Given the description of an element on the screen output the (x, y) to click on. 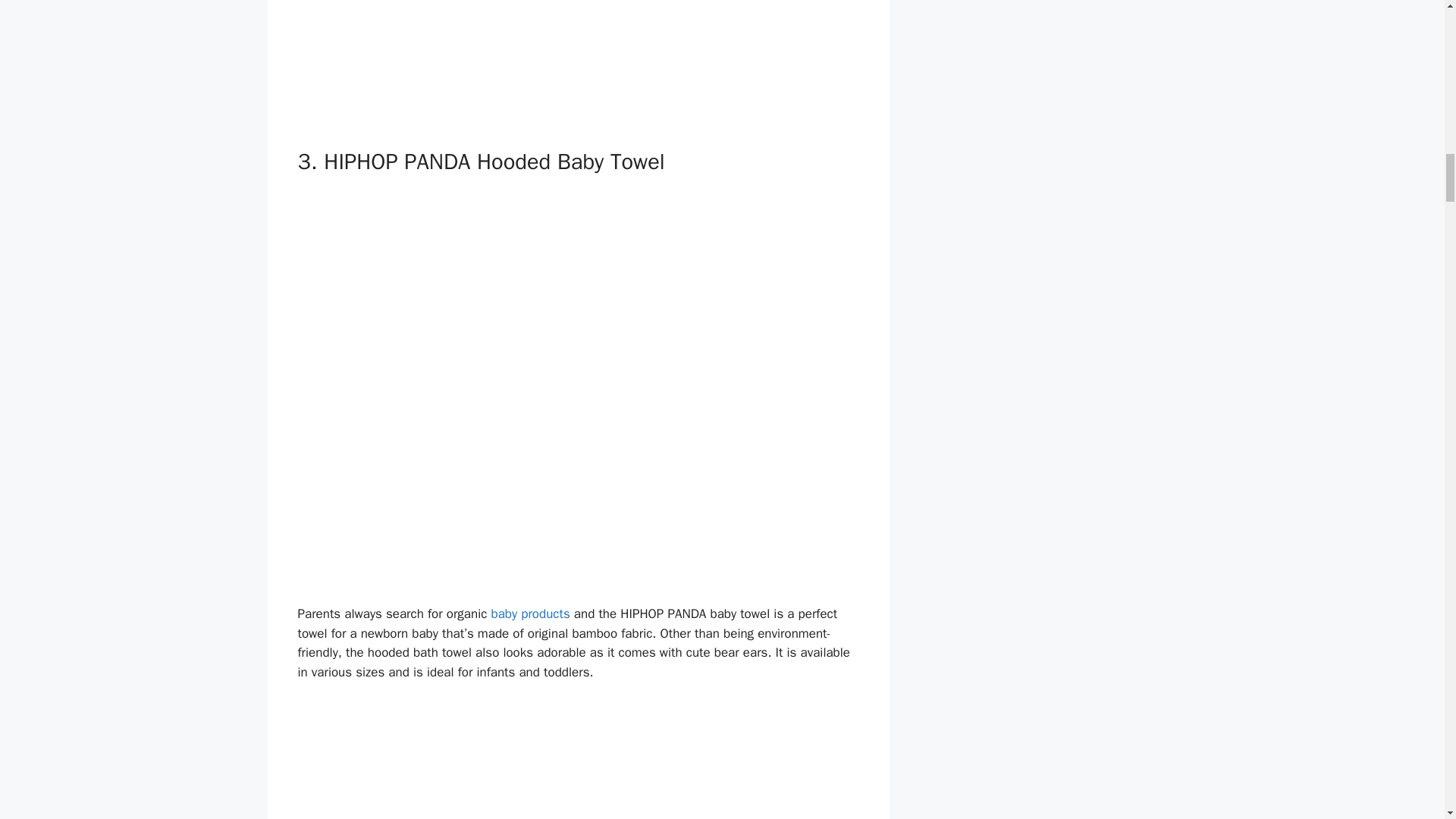
baby products (529, 613)
